Given the description of an element on the screen output the (x, y) to click on. 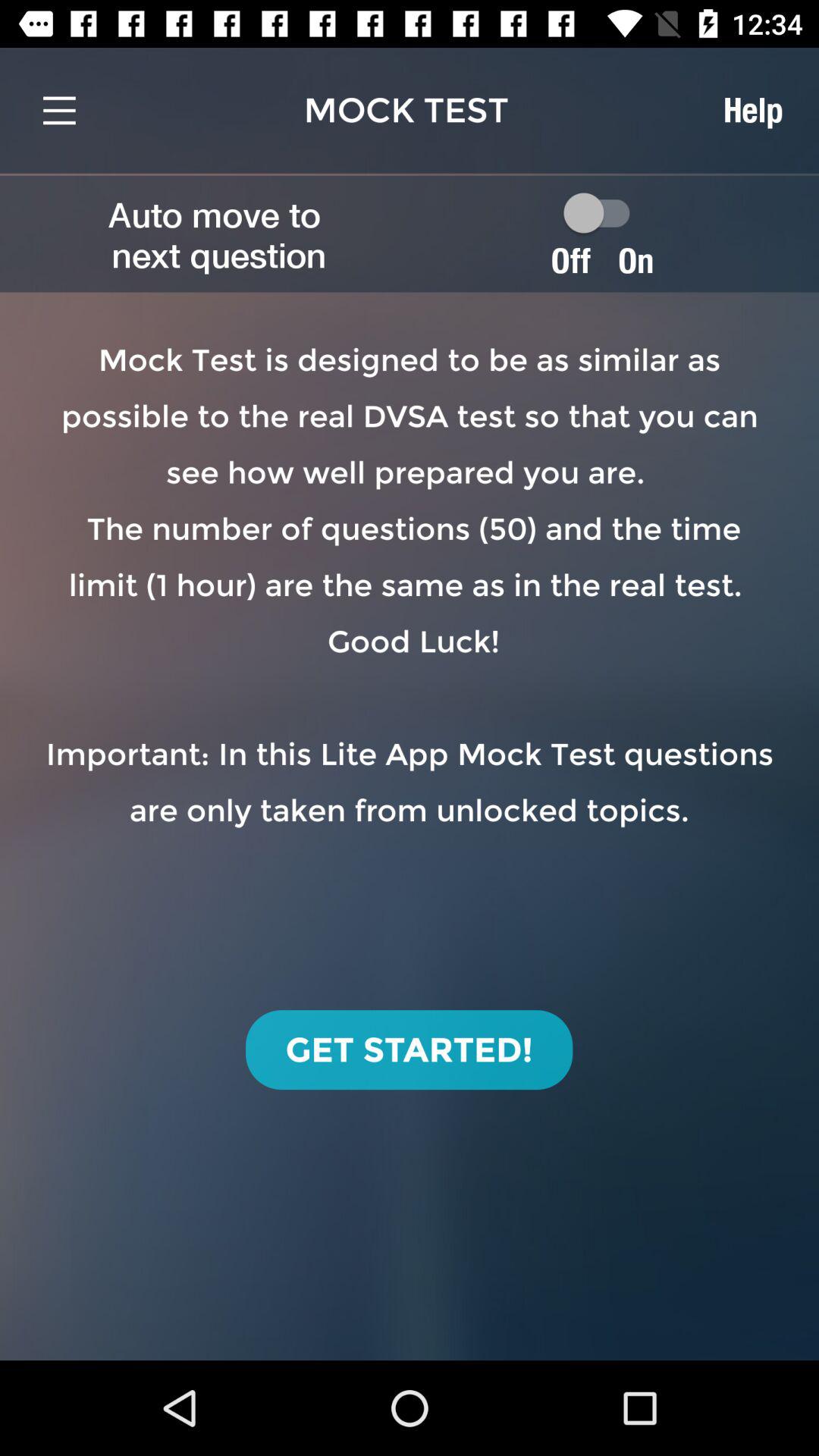
autoplay option (603, 212)
